Given the description of an element on the screen output the (x, y) to click on. 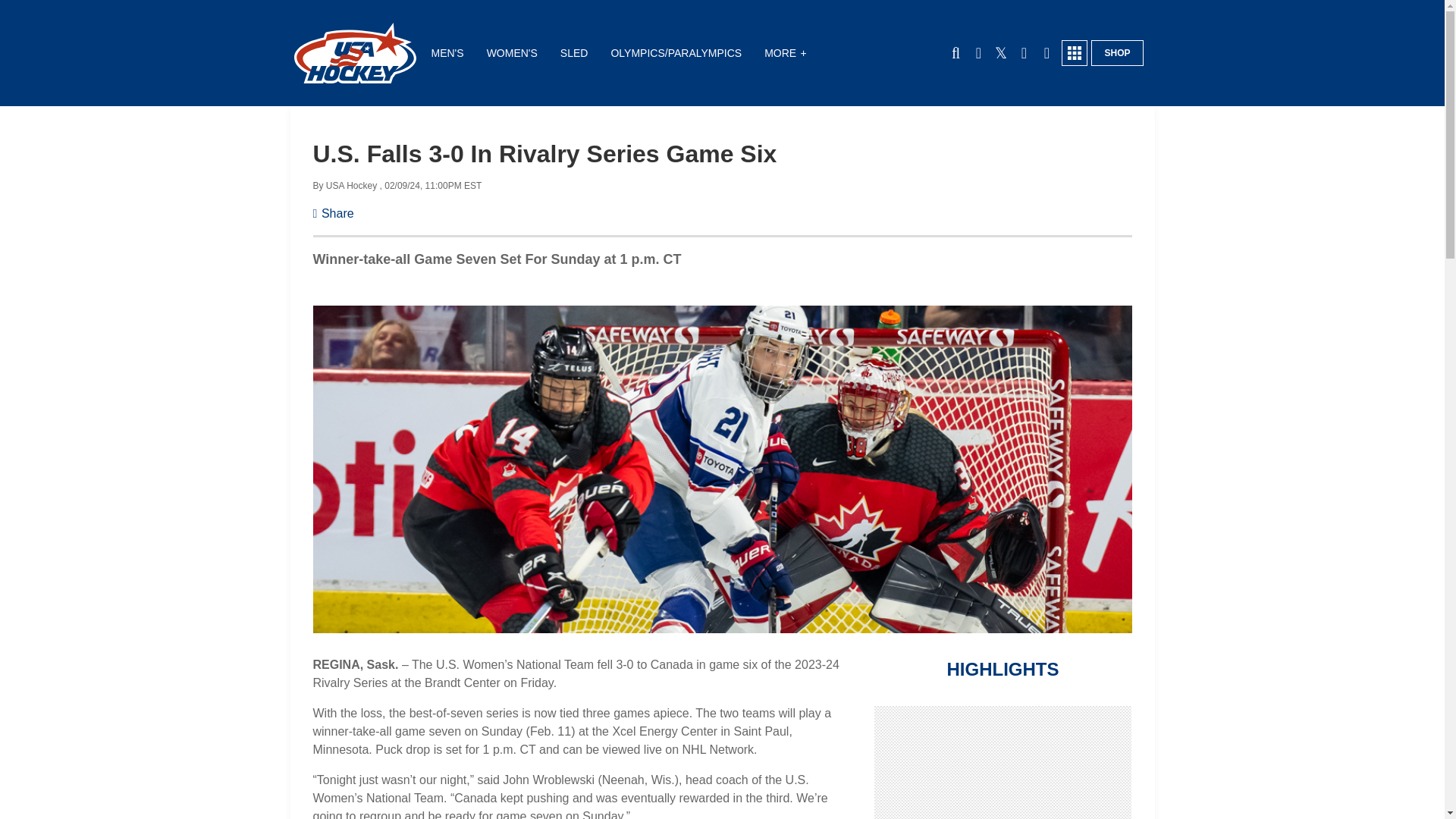
Instagram (1046, 52)
YouTube (1023, 52)
X App (1000, 52)
Facebook (978, 52)
SHOP (1116, 53)
